Given the description of an element on the screen output the (x, y) to click on. 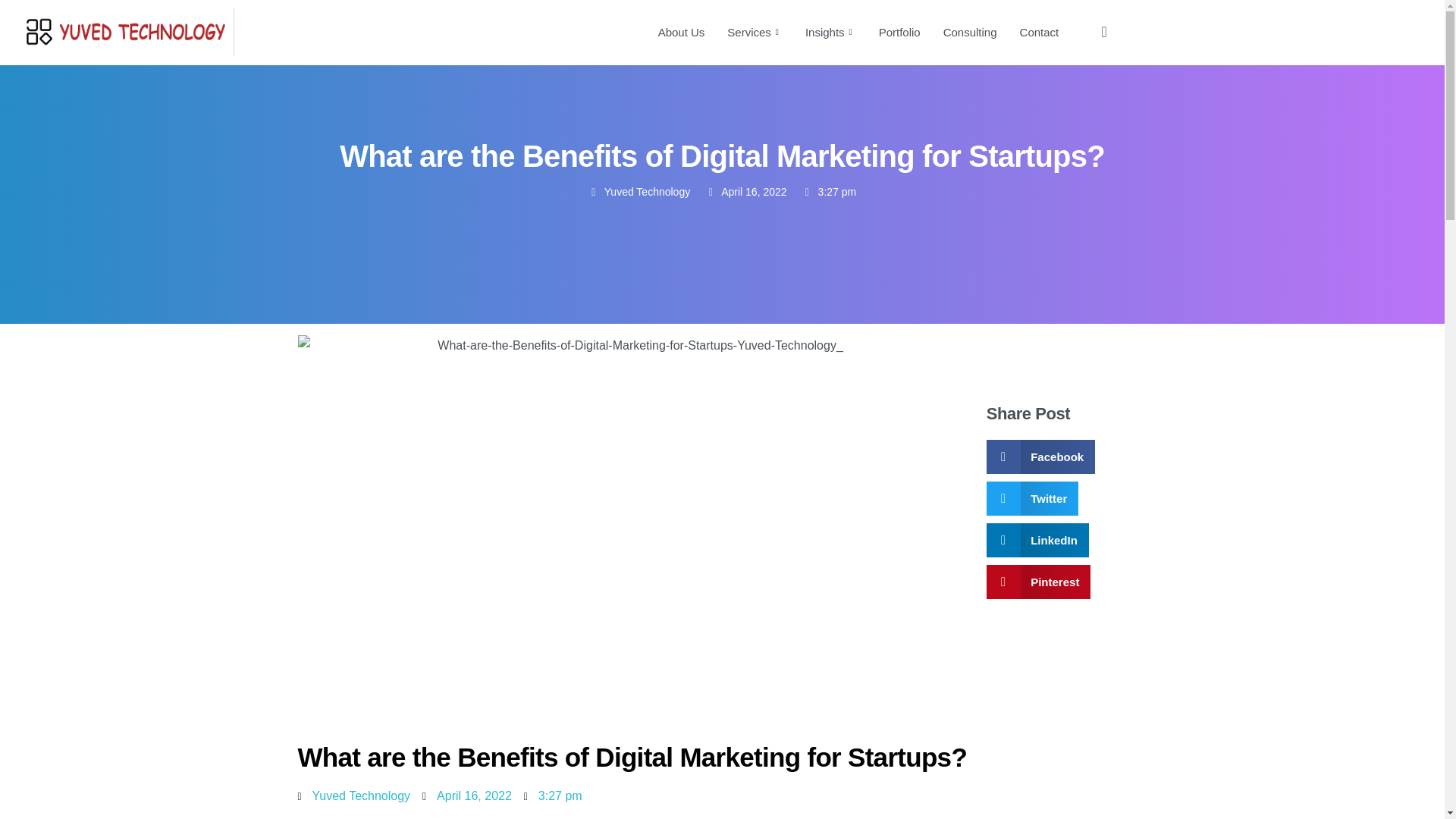
Services (754, 31)
Contact (1039, 31)
About Us (681, 31)
Insights (830, 31)
Consulting (970, 31)
Portfolio (899, 31)
